Given the description of an element on the screen output the (x, y) to click on. 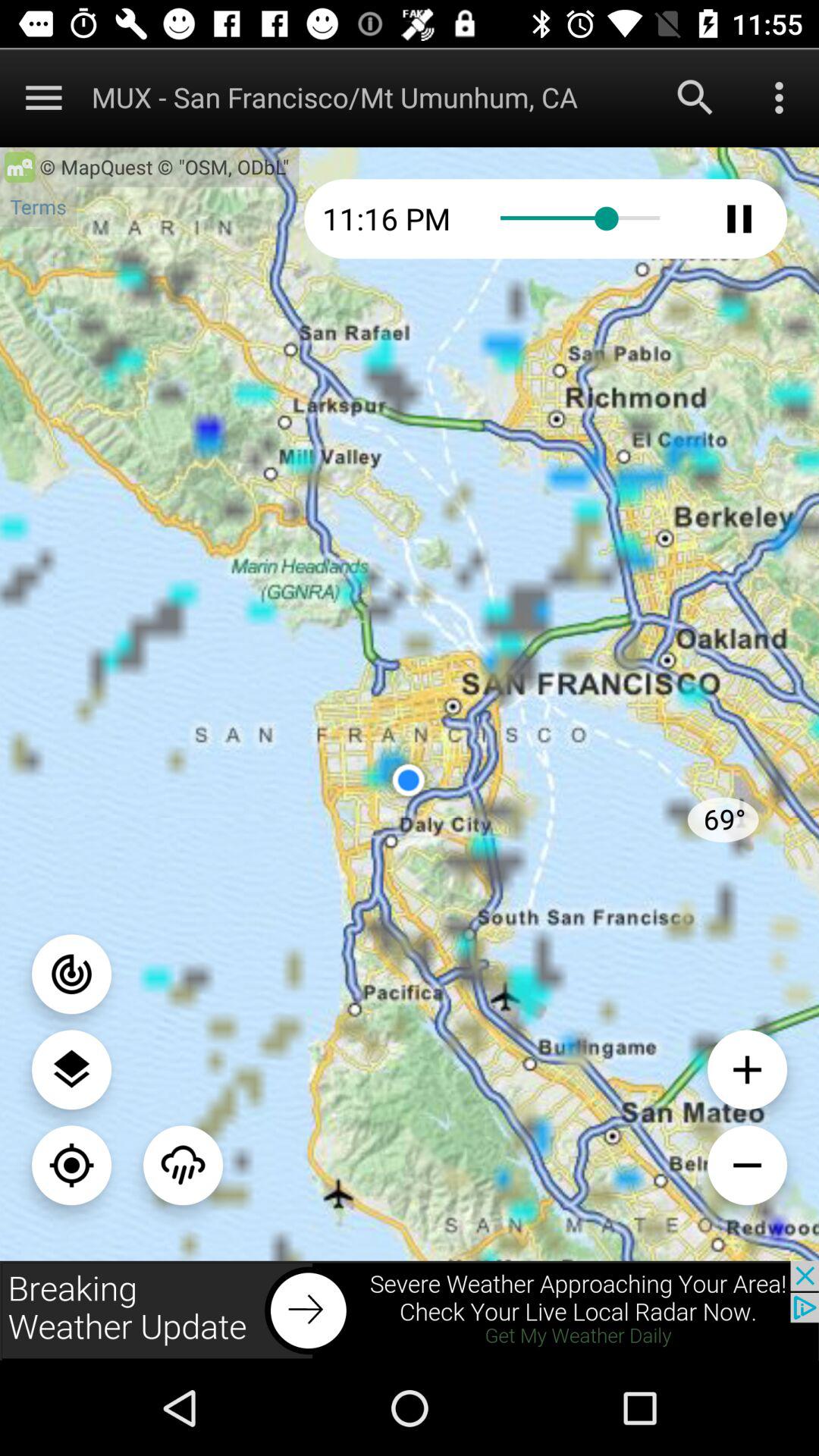
zoom in on map (747, 1069)
